Given the description of an element on the screen output the (x, y) to click on. 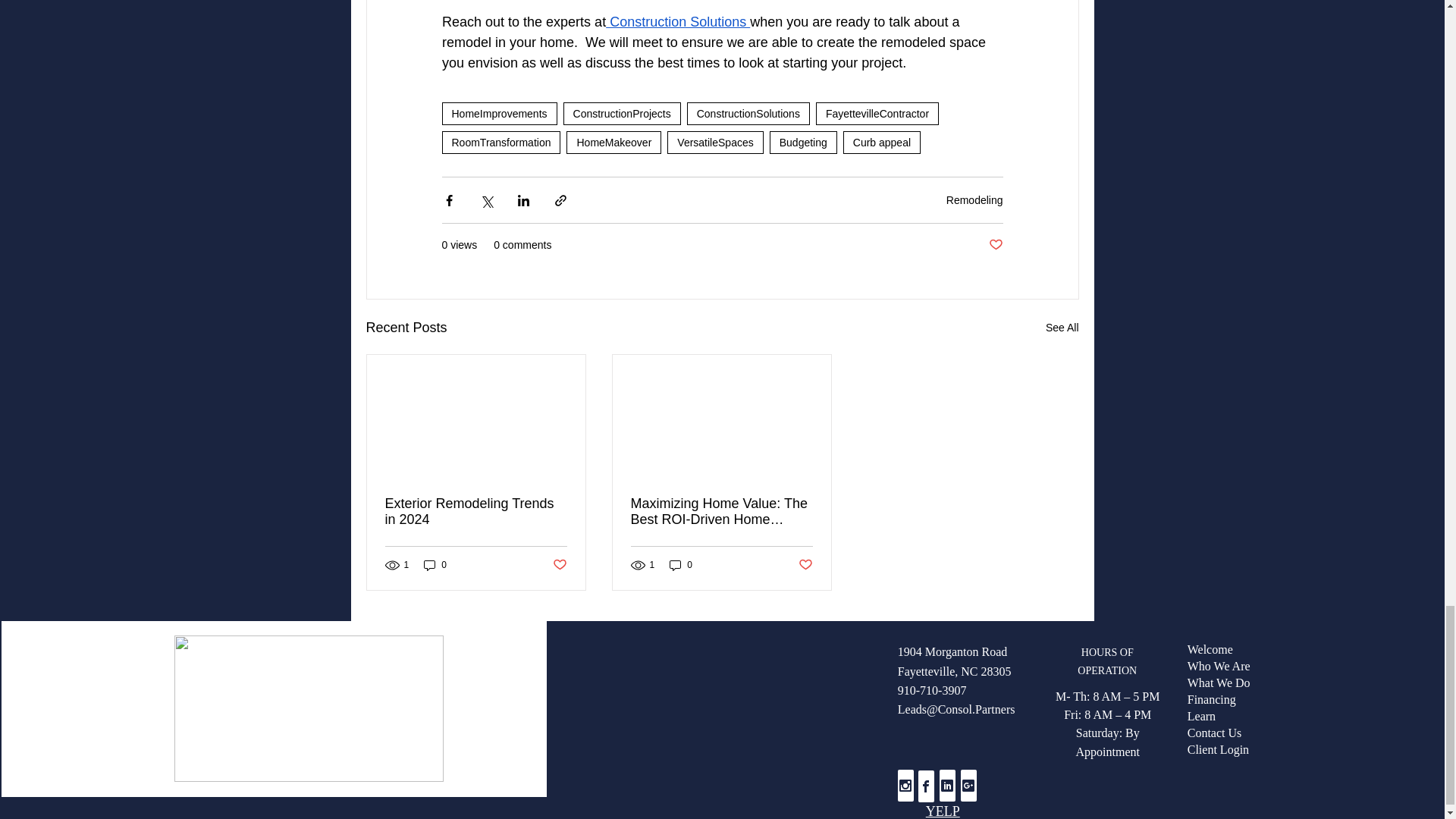
0 (435, 564)
ConstructionSolutions (748, 113)
 Construction Solutions  (677, 21)
HomeMakeover (613, 142)
Budgeting (803, 142)
HomeImprovements (498, 113)
See All (1061, 327)
ConstructionProjects (622, 113)
Post not marked as liked (558, 565)
Curb appeal (881, 142)
